Given the description of an element on the screen output the (x, y) to click on. 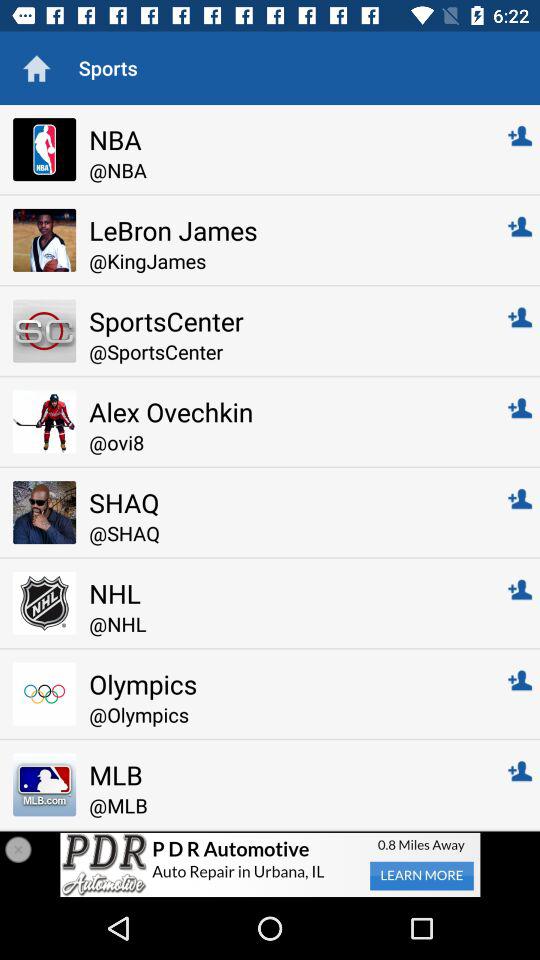
choose the item below @nba item (284, 229)
